Given the description of an element on the screen output the (x, y) to click on. 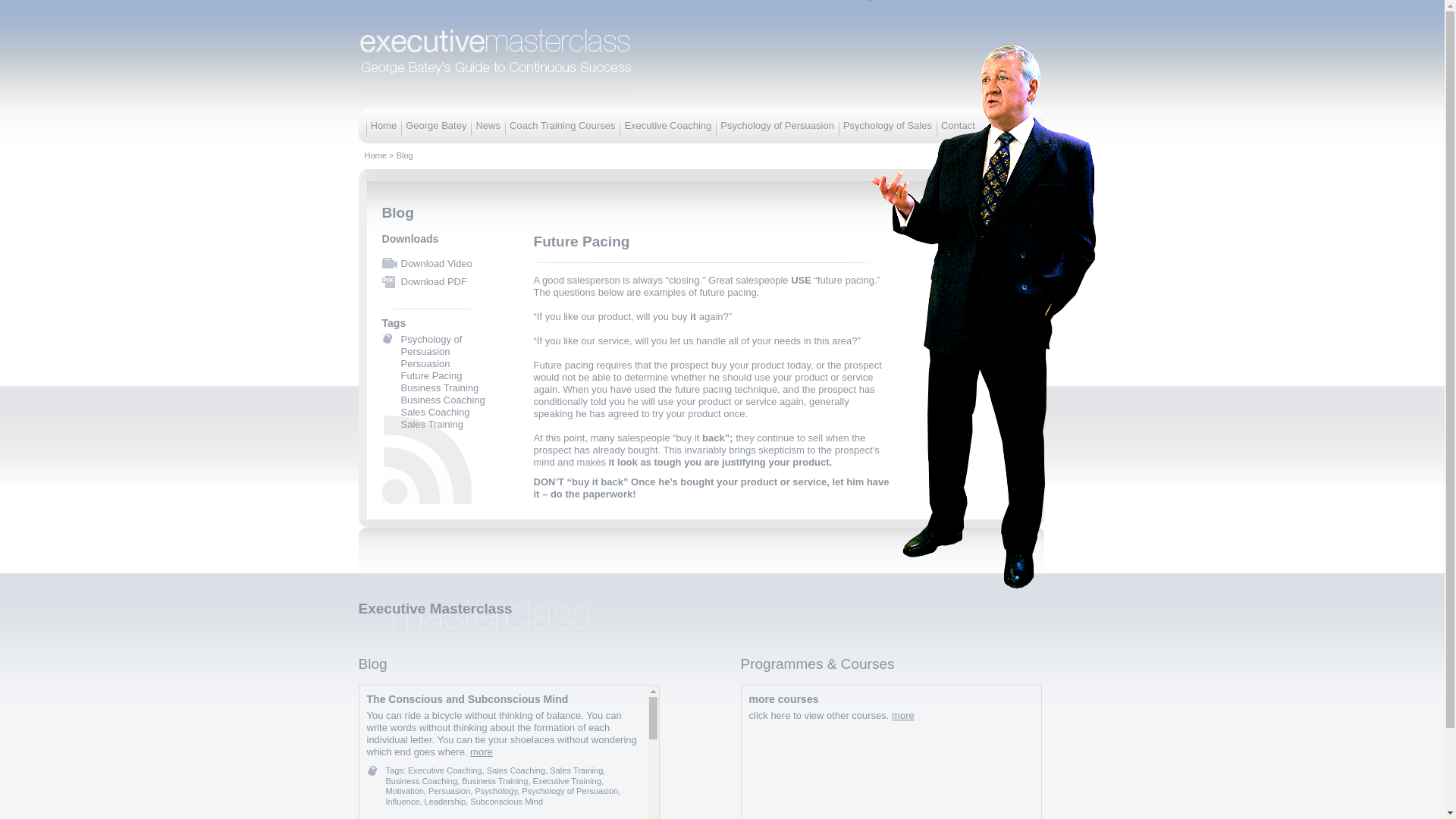
Sales Coaching (515, 769)
The Conscious and Subconscious Mind (467, 698)
George Batey (435, 125)
Persuasion (424, 363)
Psychology of Sales (887, 125)
Contact (957, 125)
Download PDF (432, 281)
Psychology of Persuasion (430, 345)
Business Coaching (442, 399)
Business Training (439, 387)
Sales Coaching (434, 411)
more (481, 751)
Home (382, 125)
Download Video (435, 263)
